Given the description of an element on the screen output the (x, y) to click on. 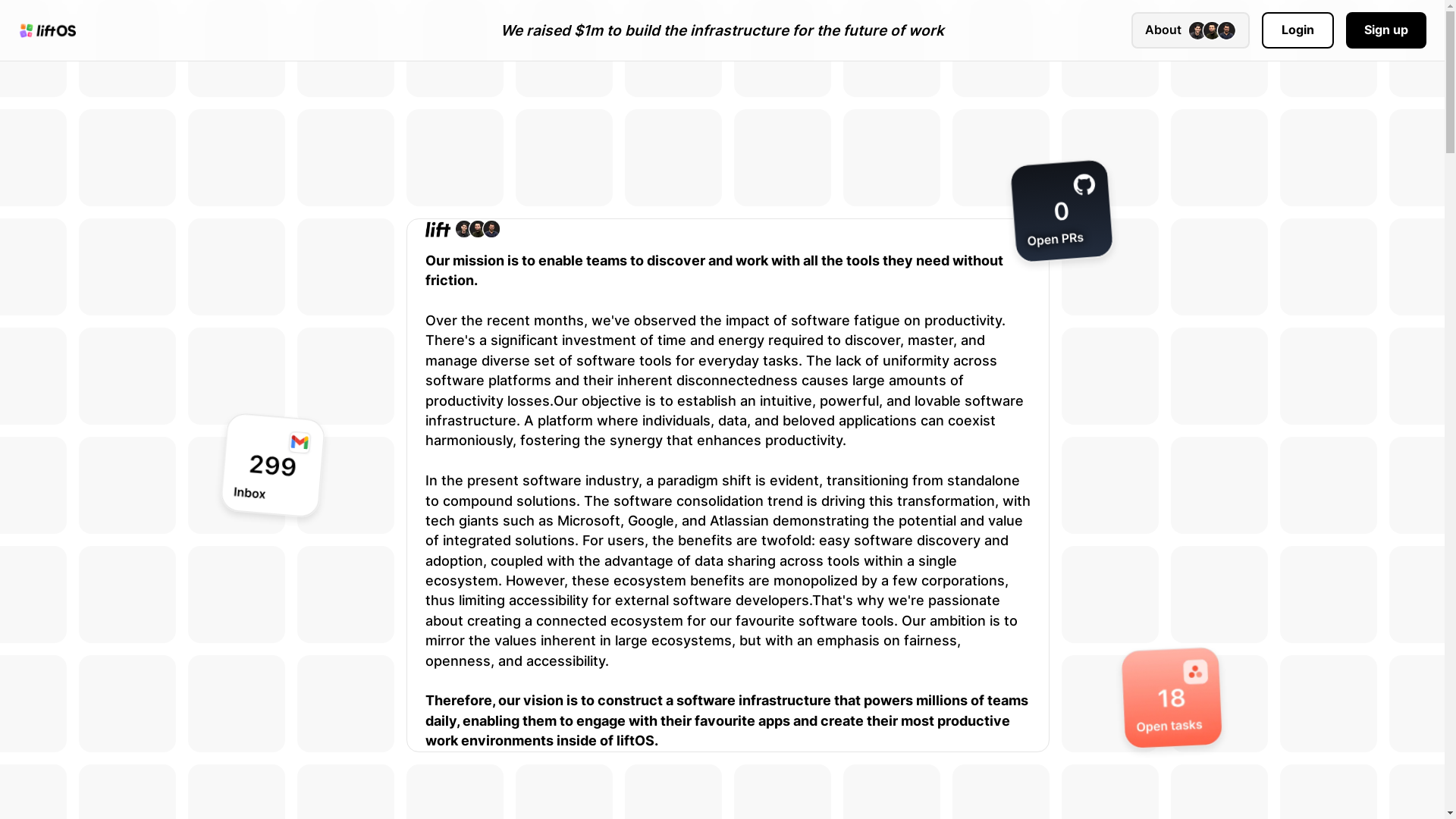
Sign up Element type: text (1386, 30)
Login Element type: text (1297, 30)
About Element type: text (1190, 30)
